Given the description of an element on the screen output the (x, y) to click on. 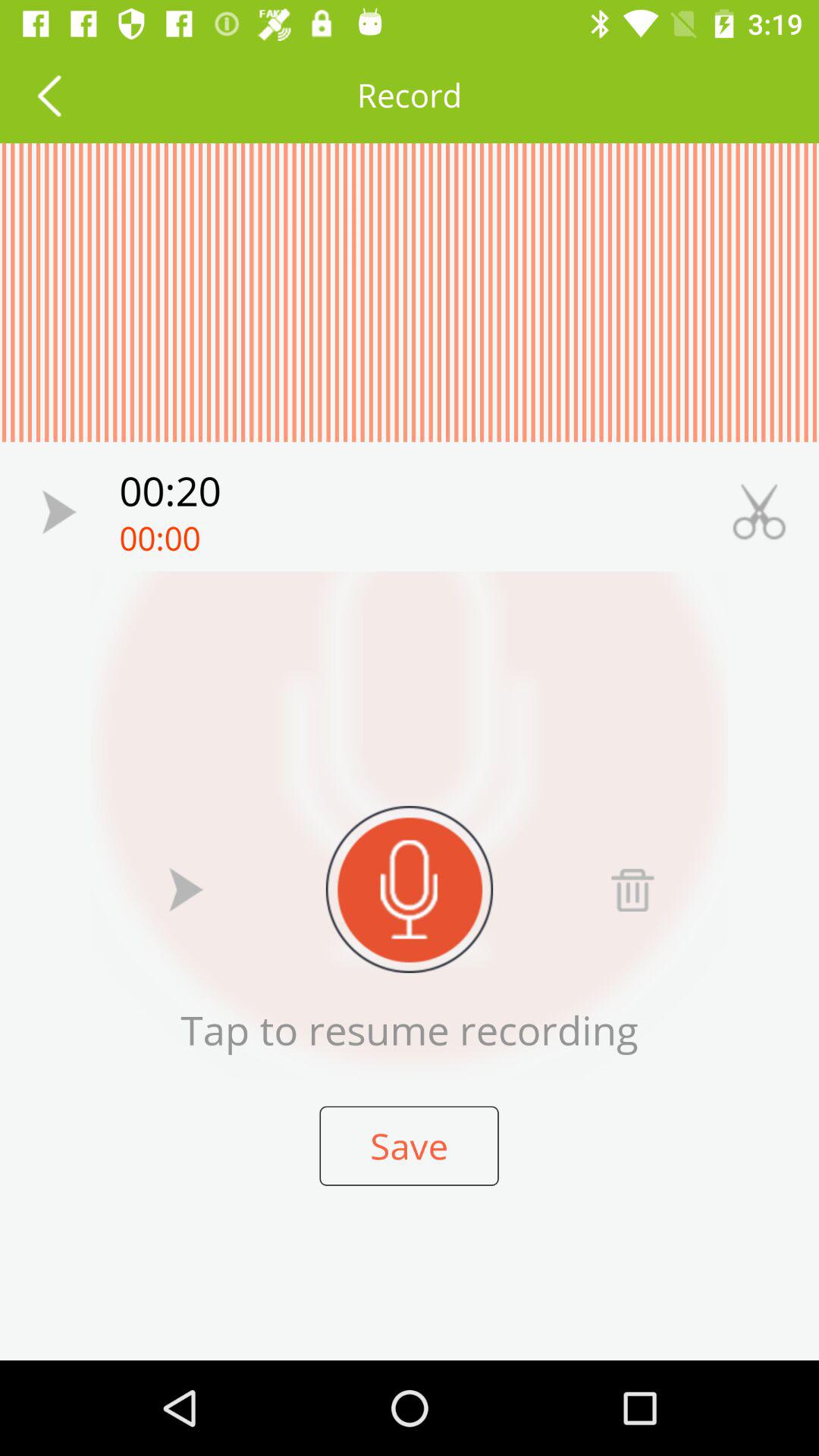
choose the item above the tap to resume (409, 889)
